Given the description of an element on the screen output the (x, y) to click on. 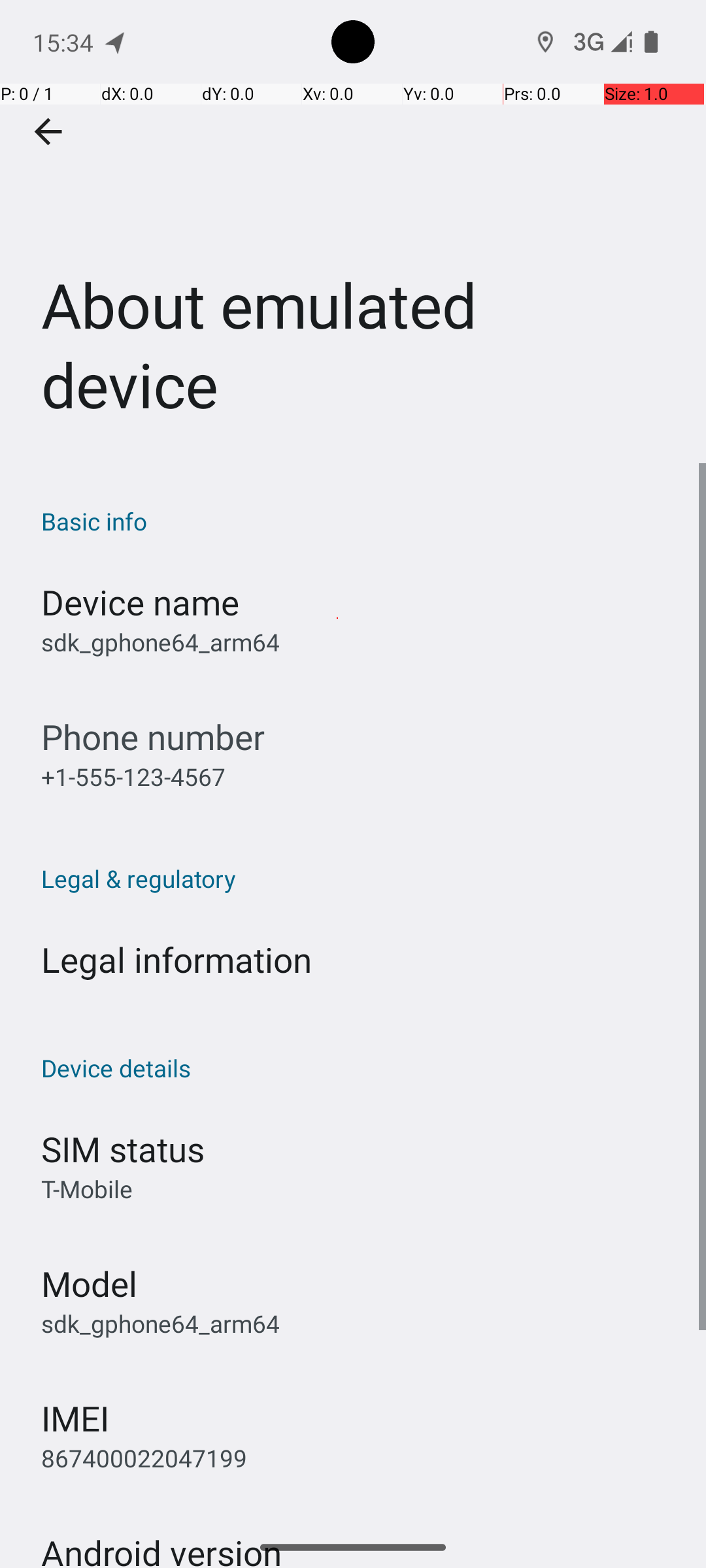
About emulated device Element type: android.widget.FrameLayout (353, 231)
Basic info Element type: android.widget.TextView (359, 520)
Device name Element type: android.widget.TextView (140, 601)
Phone number Element type: android.widget.TextView (152, 736)
+1-555-123-4567 Element type: android.widget.TextView (133, 776)
Legal & regulatory Element type: android.widget.TextView (359, 878)
Legal information Element type: android.widget.TextView (176, 959)
Device details Element type: android.widget.TextView (359, 1067)
SIM status Element type: android.widget.TextView (122, 1148)
T-Mobile Element type: android.widget.TextView (86, 1188)
Model Element type: android.widget.TextView (89, 1283)
IMEI Element type: android.widget.TextView (75, 1417)
867400022047199 Element type: android.widget.TextView (144, 1457)
